Given the description of an element on the screen output the (x, y) to click on. 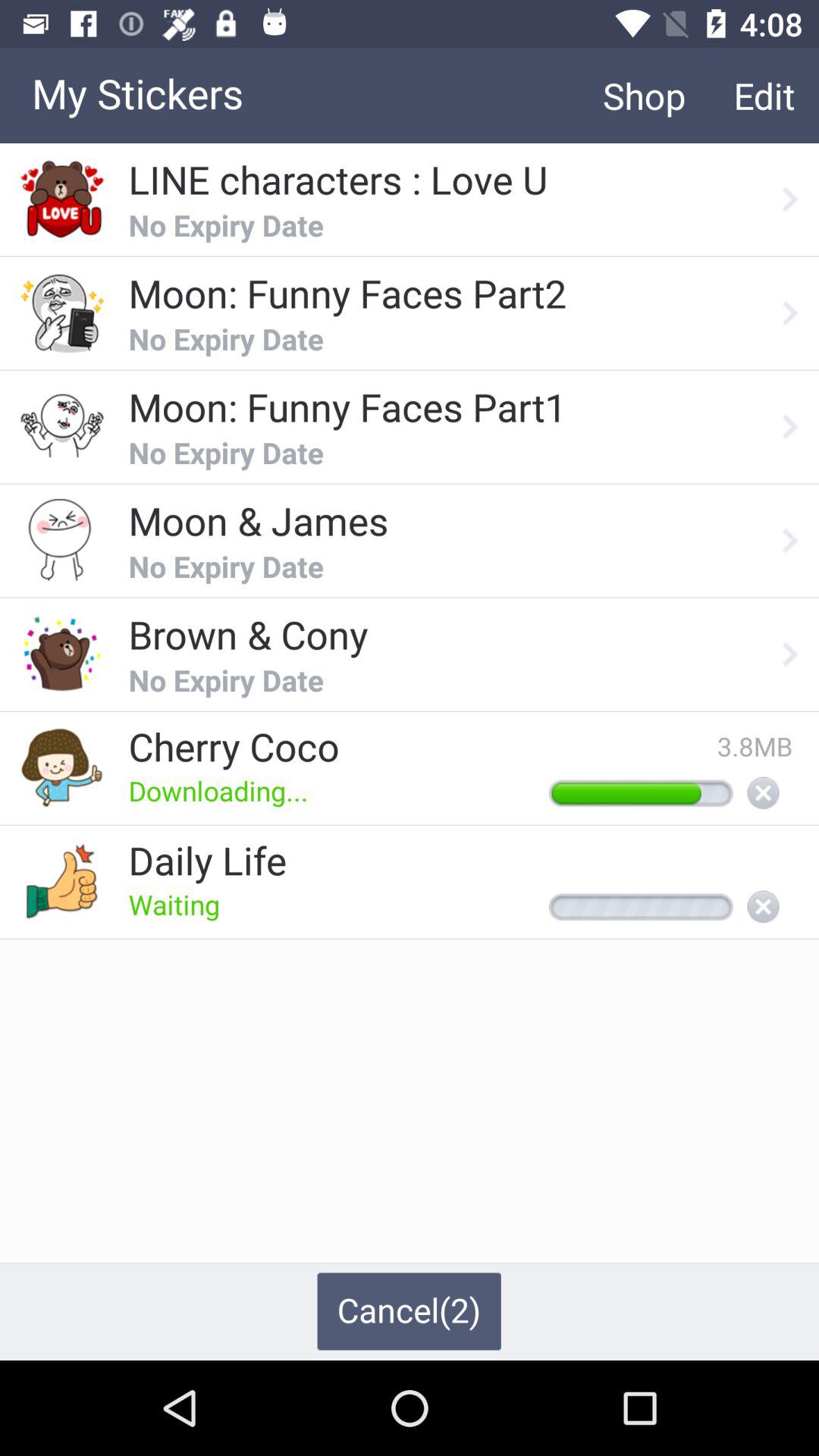
tap the app below waiting icon (409, 1311)
